Given the description of an element on the screen output the (x, y) to click on. 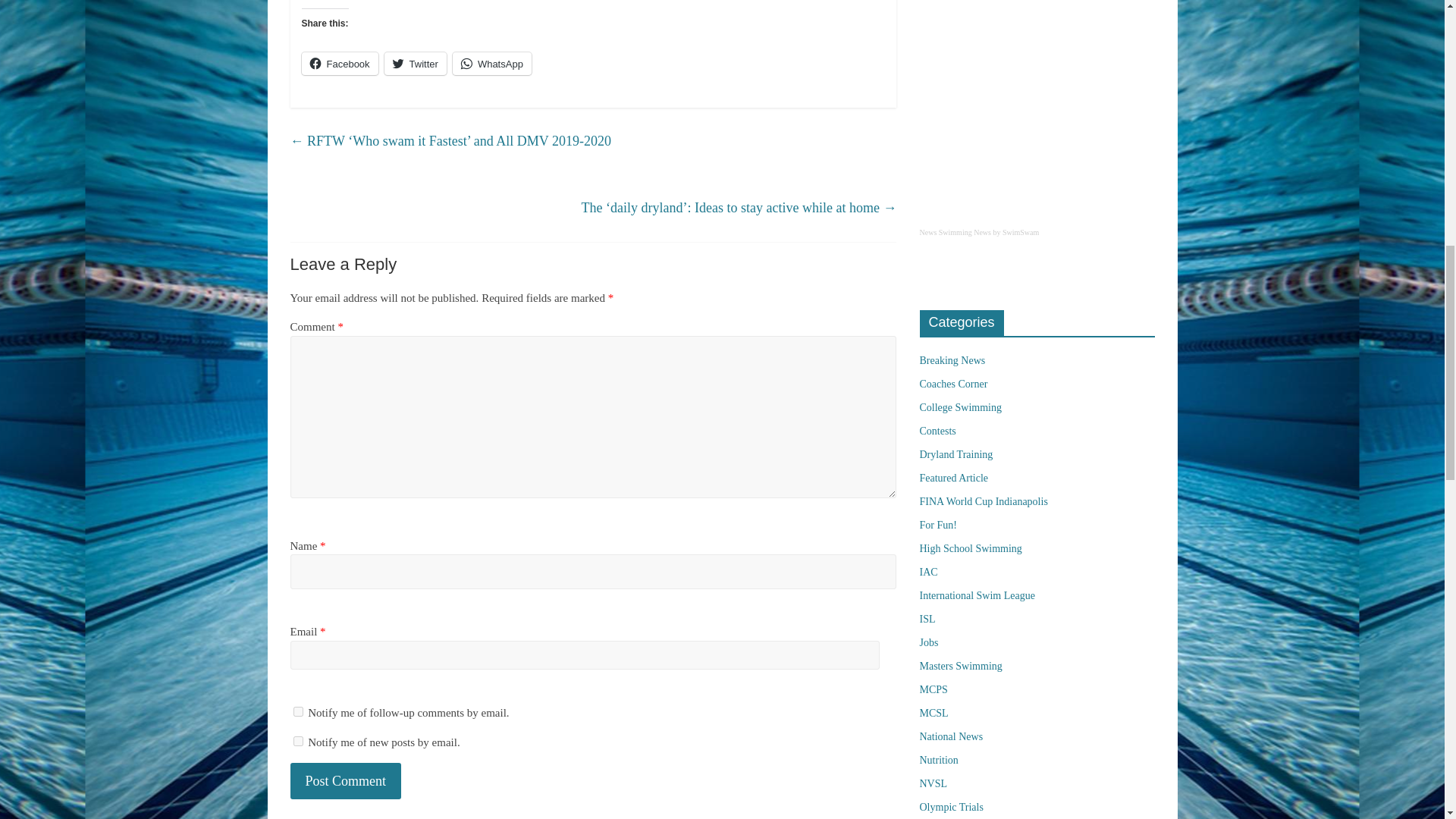
Breaking News (951, 360)
College Swimming (959, 407)
Post Comment (345, 781)
Facebook (339, 63)
subscribe (297, 711)
Click to share on Facebook (339, 63)
Click to share on Twitter (415, 63)
Twitter (415, 63)
WhatsApp (491, 63)
News Swimming News by SwimSwam (1036, 240)
Coaches Corner (952, 383)
subscribe (297, 741)
Click to share on WhatsApp (491, 63)
Post Comment (345, 781)
